Given the description of an element on the screen output the (x, y) to click on. 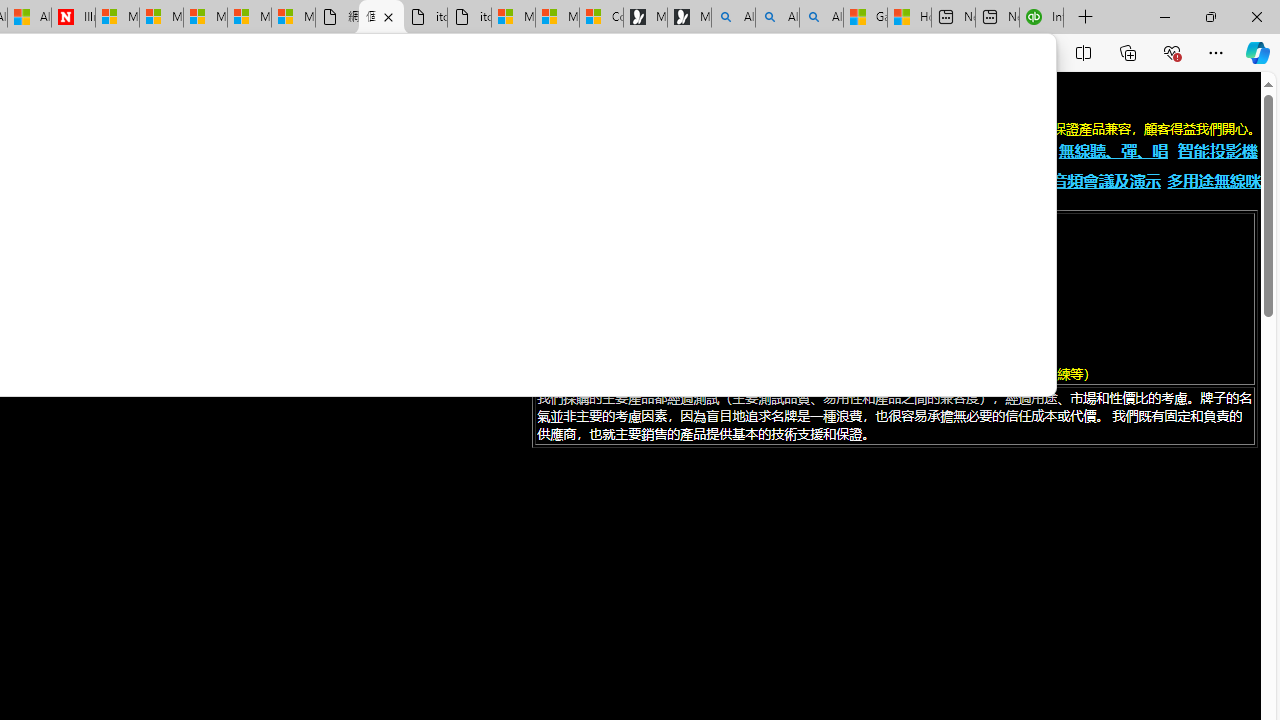
How to Use a TV as a Computer Monitor (909, 17)
